Given the description of an element on the screen output the (x, y) to click on. 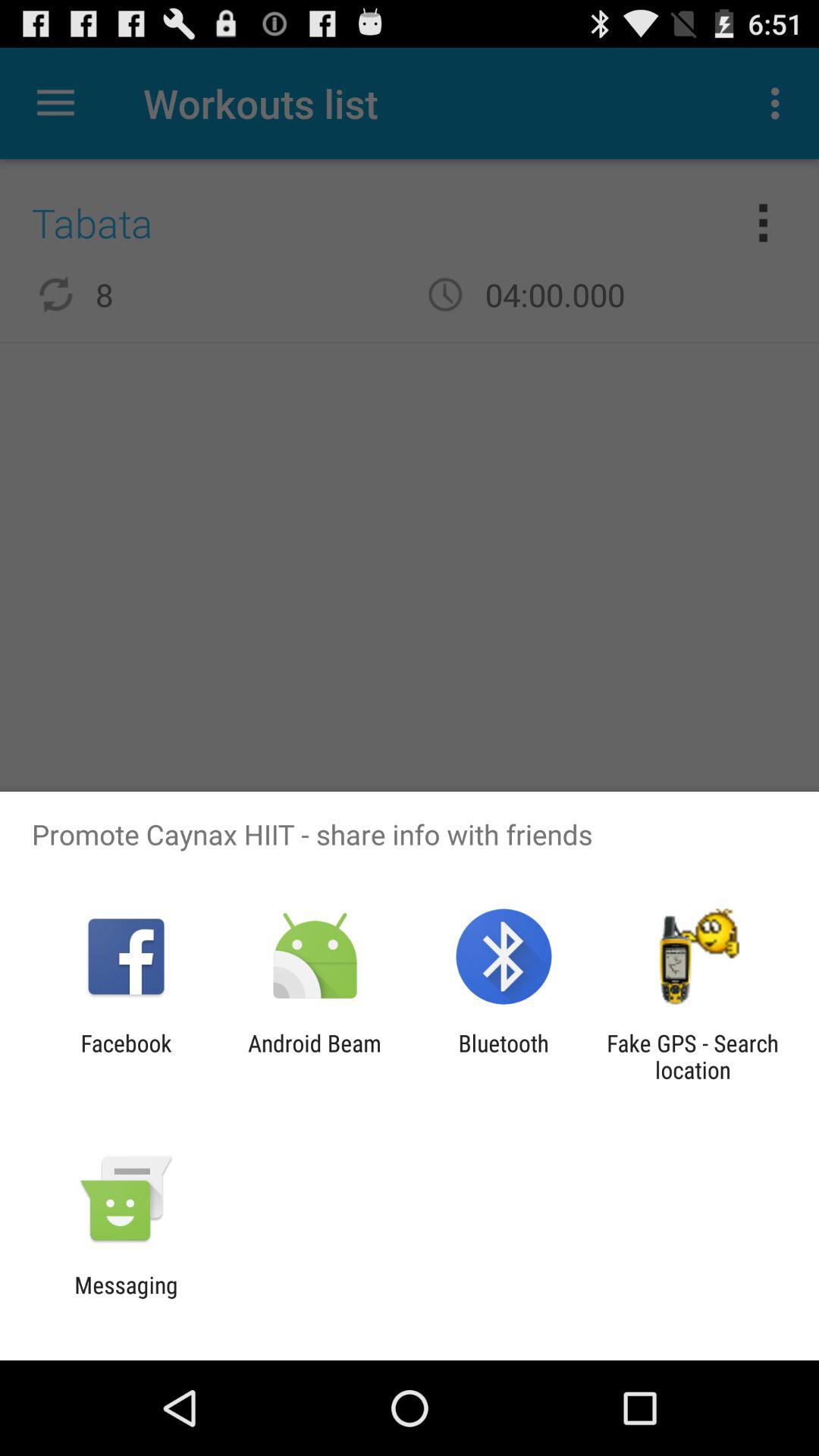
press the icon to the right of bluetooth icon (692, 1056)
